Given the description of an element on the screen output the (x, y) to click on. 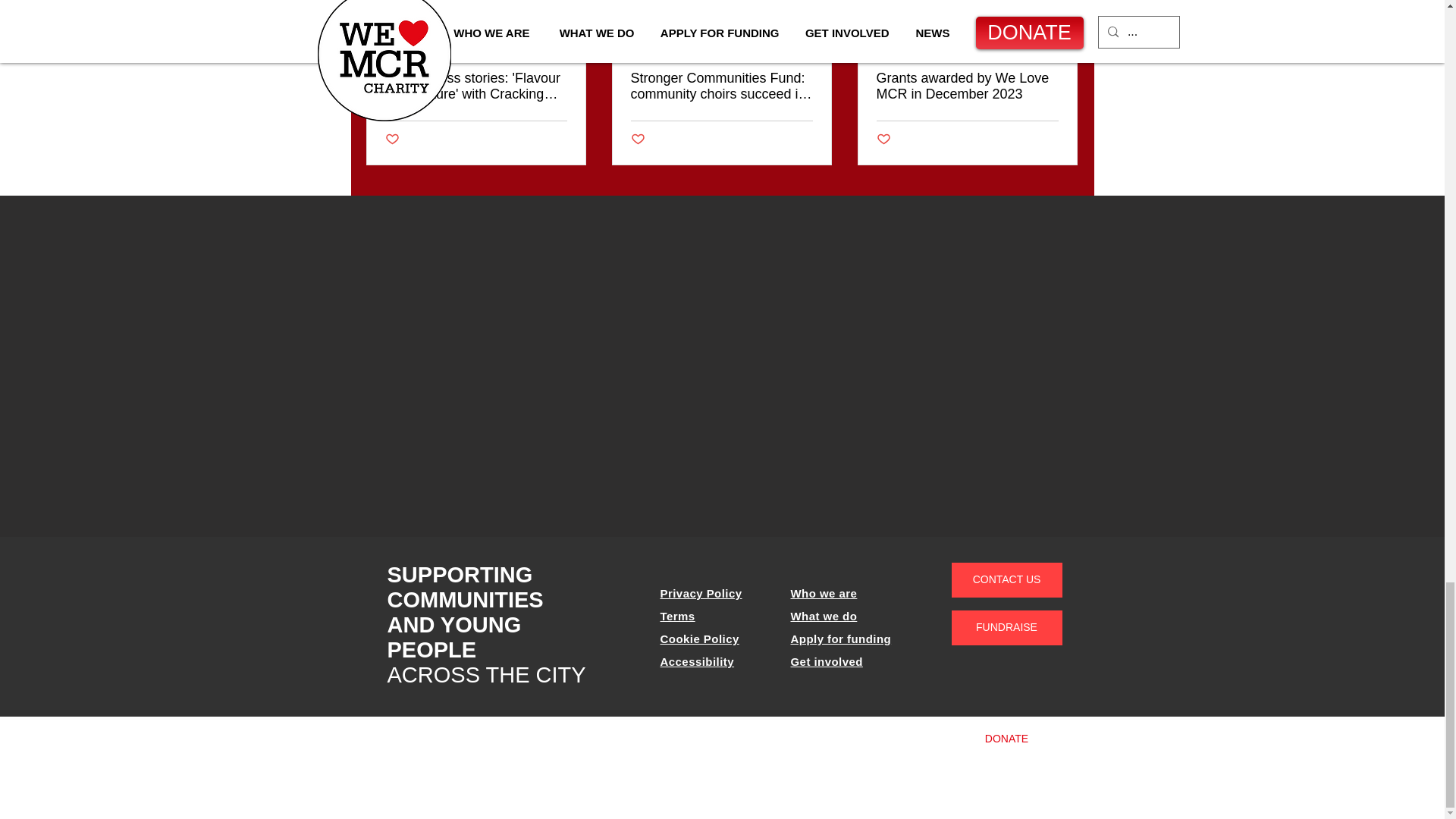
Post not marked as liked (391, 139)
Post not marked as liked (883, 139)
Privacy Policy (700, 593)
What we do (823, 615)
Who we are (823, 593)
Accessibility (696, 661)
Grants awarded by We Love MCR in December 2023 (967, 86)
Cookie Policy (698, 638)
Post not marked as liked (637, 139)
Apply for funding (840, 638)
